Given the description of an element on the screen output the (x, y) to click on. 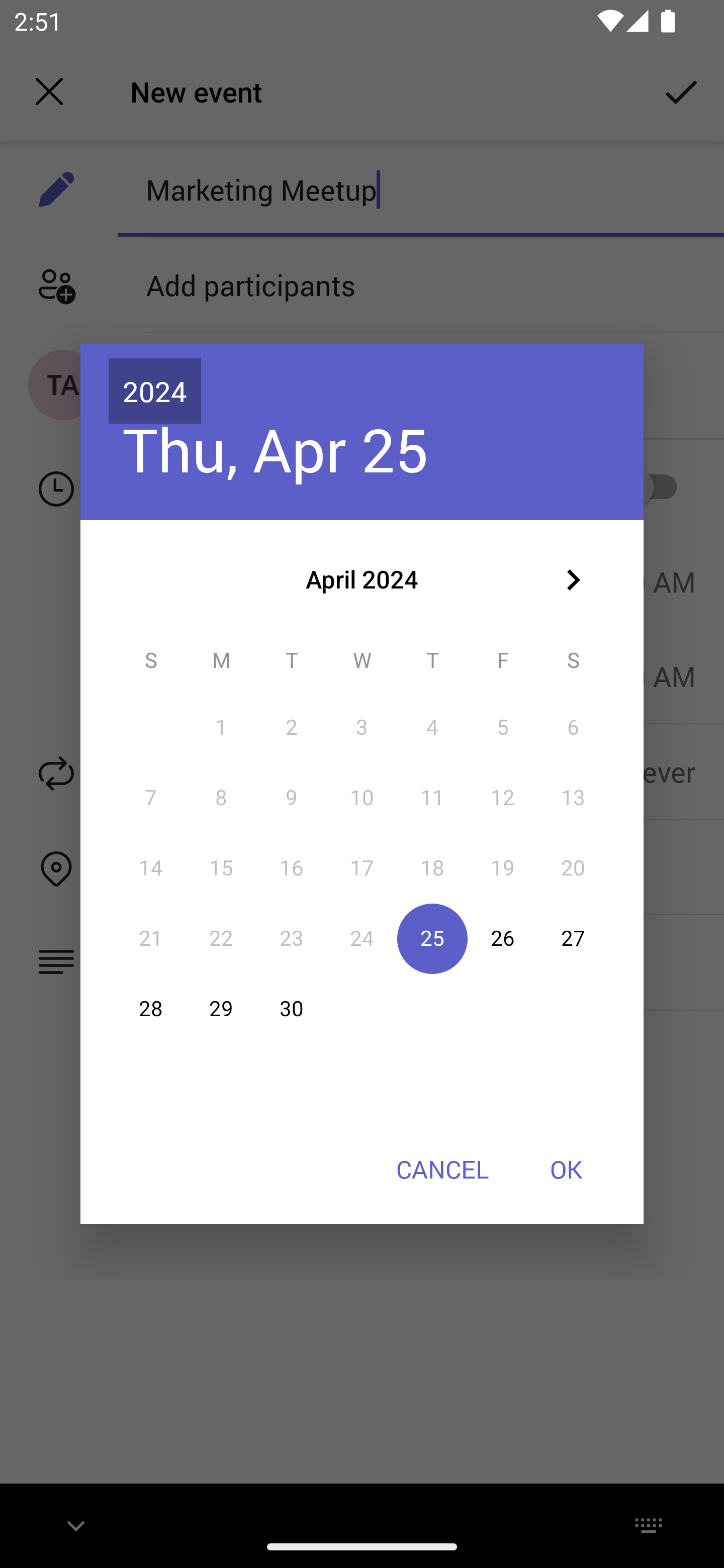
2024 (154, 391)
Thu, Apr 25 (275, 449)
Next month (572, 579)
1 01 April 2024 (221, 728)
2 02 April 2024 (291, 728)
3 03 April 2024 (361, 728)
4 04 April 2024 (432, 728)
5 05 April 2024 (502, 728)
6 06 April 2024 (572, 728)
7 07 April 2024 (150, 797)
8 08 April 2024 (221, 797)
9 09 April 2024 (291, 797)
10 10 April 2024 (361, 797)
11 11 April 2024 (432, 797)
12 12 April 2024 (502, 797)
13 13 April 2024 (572, 797)
14 14 April 2024 (150, 867)
15 15 April 2024 (221, 867)
16 16 April 2024 (291, 867)
17 17 April 2024 (361, 867)
18 18 April 2024 (432, 867)
19 19 April 2024 (502, 867)
20 20 April 2024 (572, 867)
21 21 April 2024 (150, 938)
22 22 April 2024 (221, 938)
23 23 April 2024 (291, 938)
24 24 April 2024 (361, 938)
25 25 April 2024 (432, 938)
26 26 April 2024 (502, 938)
27 27 April 2024 (572, 938)
28 28 April 2024 (150, 1008)
29 29 April 2024 (221, 1008)
30 30 April 2024 (291, 1008)
CANCEL (442, 1168)
OK (565, 1168)
